Given the description of an element on the screen output the (x, y) to click on. 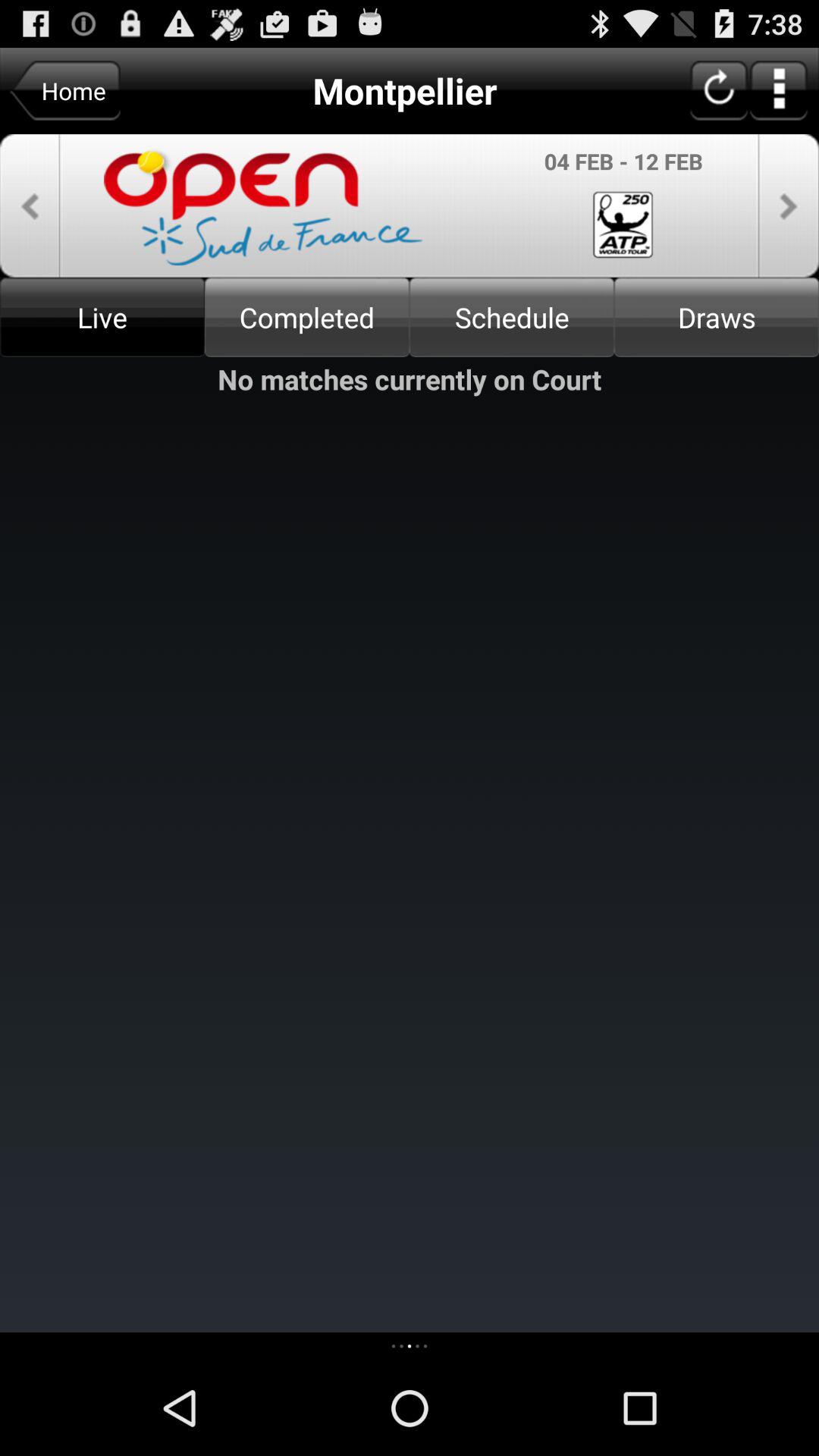
click on draws (716, 317)
click on the image above live (409, 205)
click on the text above the live (263, 205)
click on the reload icon right next to montpellier (719, 90)
click on the completed button next to the live button (306, 317)
click on the home button left to montpellier (65, 90)
